Given the description of an element on the screen output the (x, y) to click on. 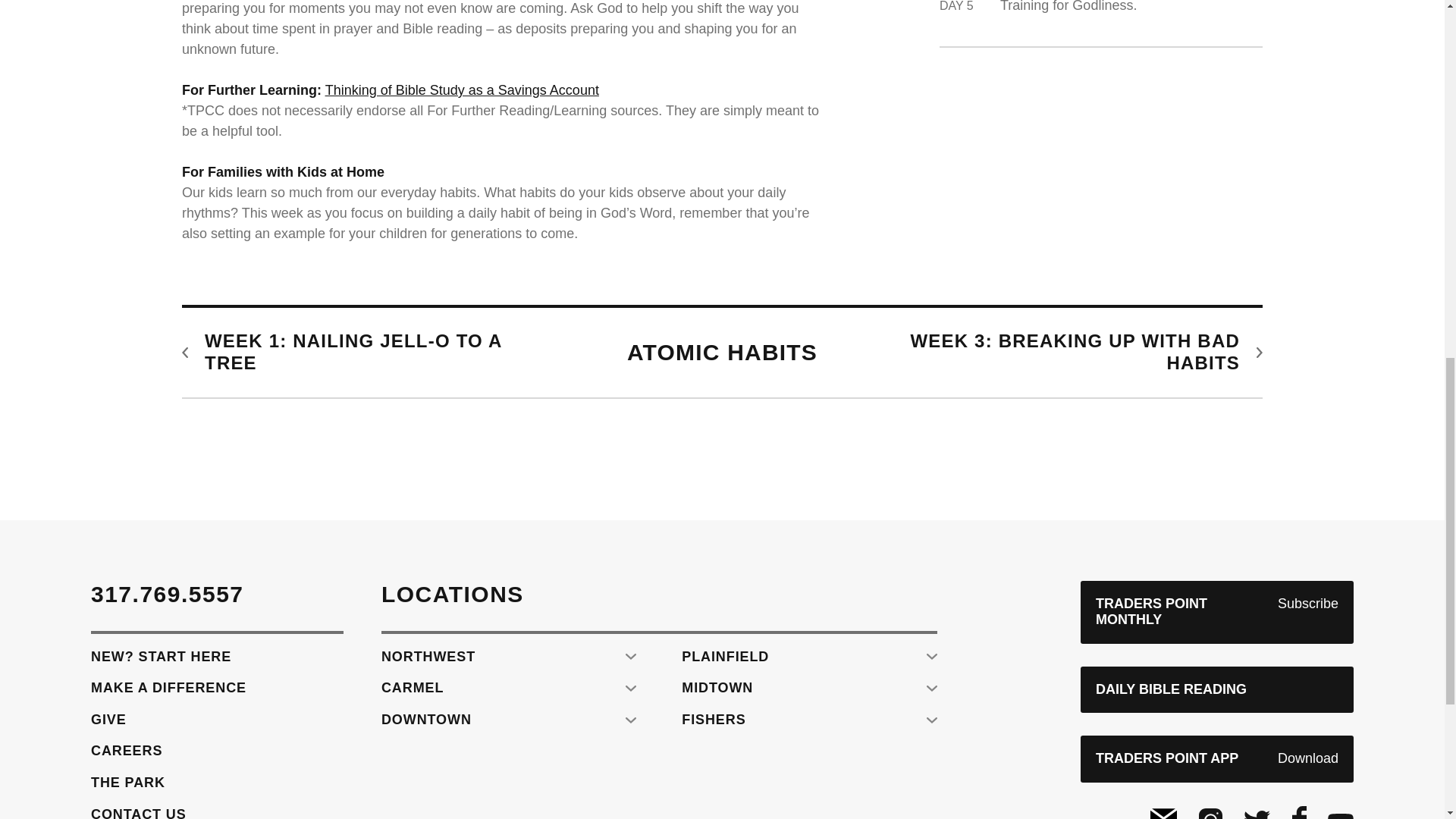
Facebook (1299, 812)
Instagram (1210, 813)
YouTube (1340, 816)
Twitter (1256, 814)
